Given the description of an element on the screen output the (x, y) to click on. 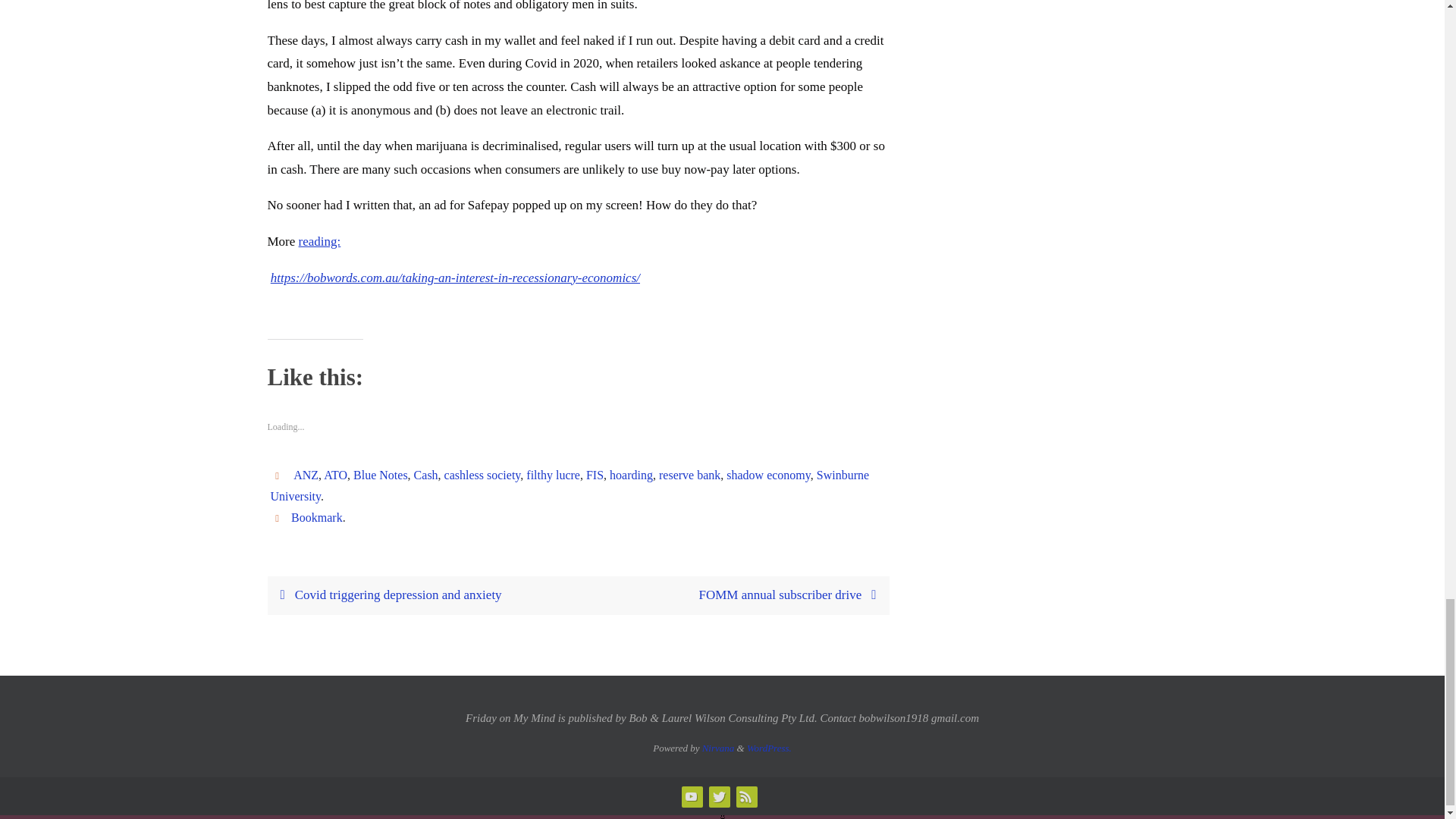
filthy lucre (552, 475)
FIS (595, 475)
Permalink to Hoarding cash in a cashless society (316, 517)
Tagged (278, 474)
ATO (335, 475)
 Bookmark the permalink (278, 517)
reserve bank (689, 475)
shadow economy (768, 475)
Swinburne University (569, 485)
cashless society (482, 475)
